Given the description of an element on the screen output the (x, y) to click on. 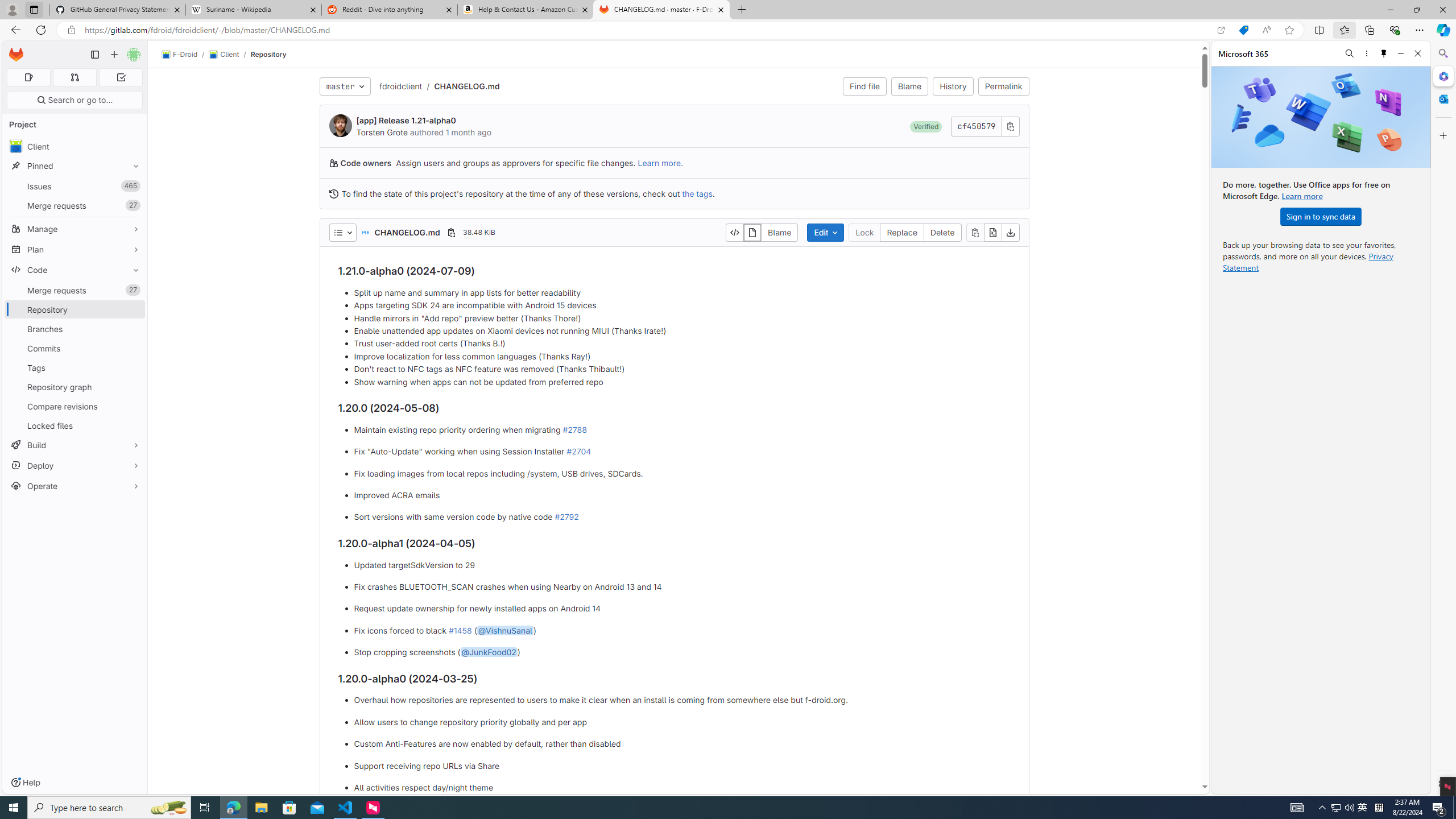
Verified (926, 126)
AutomationID: dropdown-toggle-btn-50 (342, 232)
Repository graph (74, 386)
Repository (268, 53)
#2792 (566, 516)
the tags (696, 193)
Fix "Auto-Update" working when using Session Installer #2704 (681, 451)
Copy file contents (974, 232)
Sort versions with same version code by native code #2792 (681, 517)
Torsten Grote (381, 131)
